Given the description of an element on the screen output the (x, y) to click on. 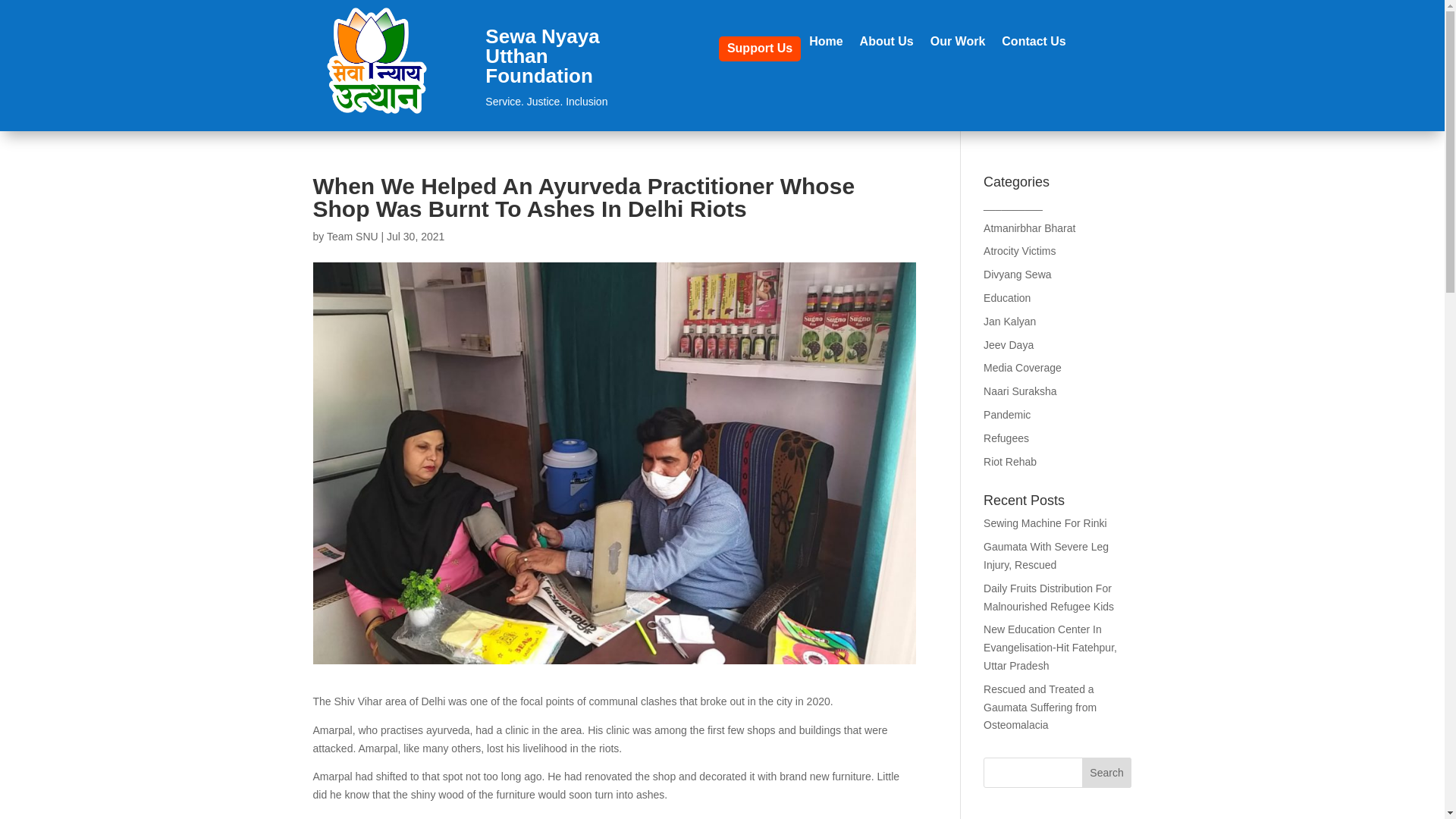
Atrocity Victims (1019, 250)
Divyang Sewa (1017, 274)
Logo of Sewa Nyaya Utthan Foundation (376, 60)
Jeev Daya (1008, 345)
Naari Suraksha (1020, 390)
Education (1007, 297)
Contact Us (1033, 48)
Pandemic (1007, 414)
About Us (887, 48)
Our Work (957, 48)
Refugees (1006, 438)
Home (826, 48)
Posts by Team SNU (352, 236)
Media Coverage (1022, 367)
Search (1106, 772)
